Given the description of an element on the screen output the (x, y) to click on. 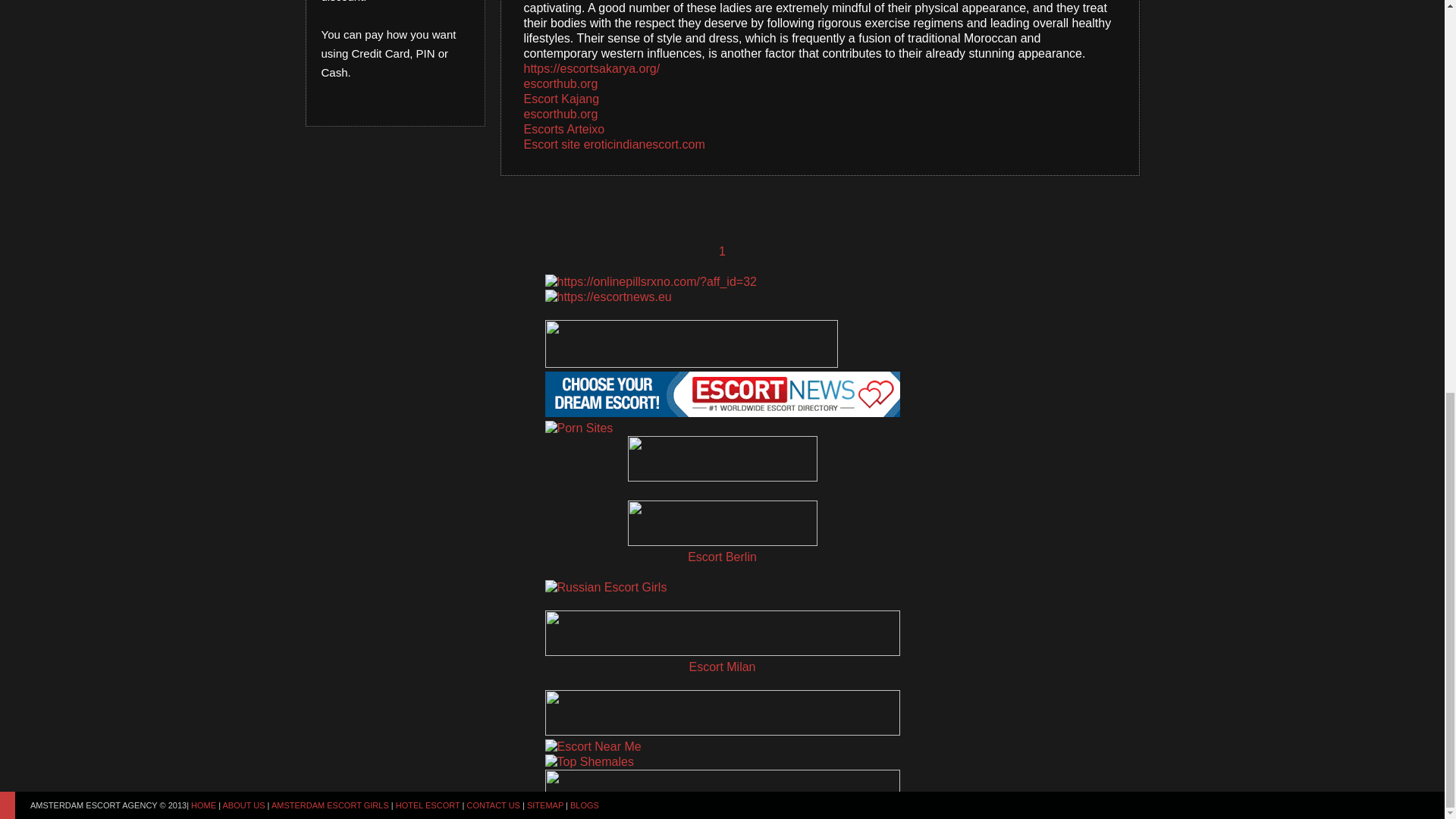
Escort Milan (721, 667)
Escorts Arteixo (563, 128)
Escort Kajang (560, 98)
BLOGS (584, 52)
Partners (584, 52)
Escort Berlin (721, 557)
SITEMAP (545, 52)
Amsterdam Escorts Agency (202, 52)
escorthub.org (559, 113)
HOME (202, 52)
